Given the description of an element on the screen output the (x, y) to click on. 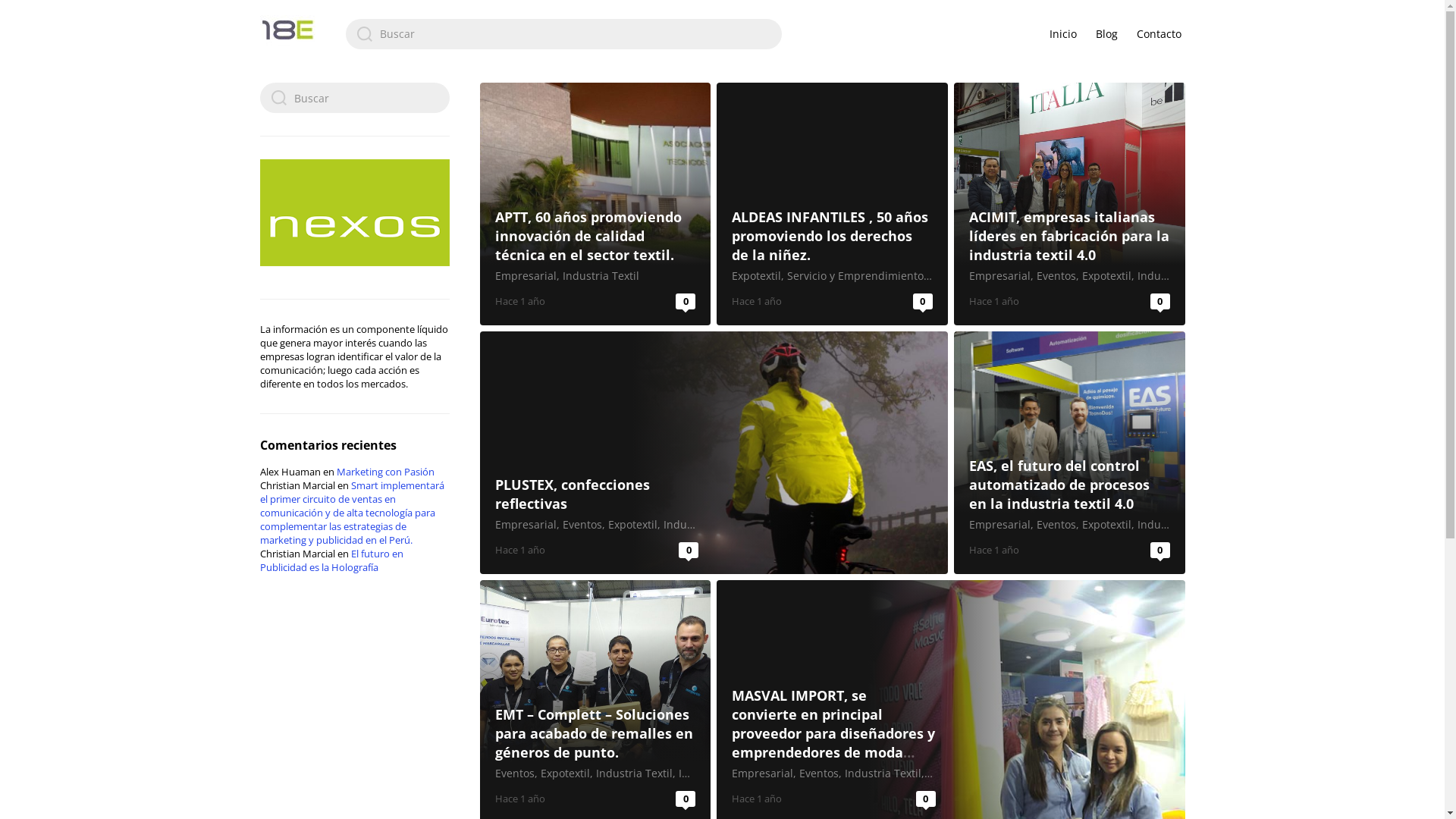
Industria Textil Element type: text (1175, 524)
Empresarial Element type: text (524, 524)
Industria Textil Element type: text (634, 772)
Eventos Element type: text (513, 772)
Industria Textil Element type: text (700, 524)
Expotextil Element type: text (1106, 524)
Empresarial Element type: text (999, 275)
Expotextil Element type: text (632, 524)
Empresarial Element type: text (524, 275)
Eventos Element type: text (818, 772)
Contacto Element type: text (1158, 33)
Eventos Element type: text (582, 524)
PLUSTEX, confecciones reflectivas Element type: text (571, 493)
Empresarial Element type: text (762, 772)
Expotextil Element type: text (756, 275)
PLUSTEX, confecciones reflectivas Element type: text (713, 452)
Expotextil Element type: text (1106, 275)
Inicio Element type: text (1062, 33)
Industria Textil Element type: text (882, 772)
Eventos Element type: text (1056, 524)
Expotextil Element type: text (564, 772)
Industria Textil Element type: text (600, 275)
Servicio y Emprendimiento Social Element type: text (871, 275)
Eventos Element type: text (1056, 275)
Industria Textil Element type: text (1175, 275)
Empresarial Element type: text (999, 524)
Blog Element type: text (1105, 33)
